Given the description of an element on the screen output the (x, y) to click on. 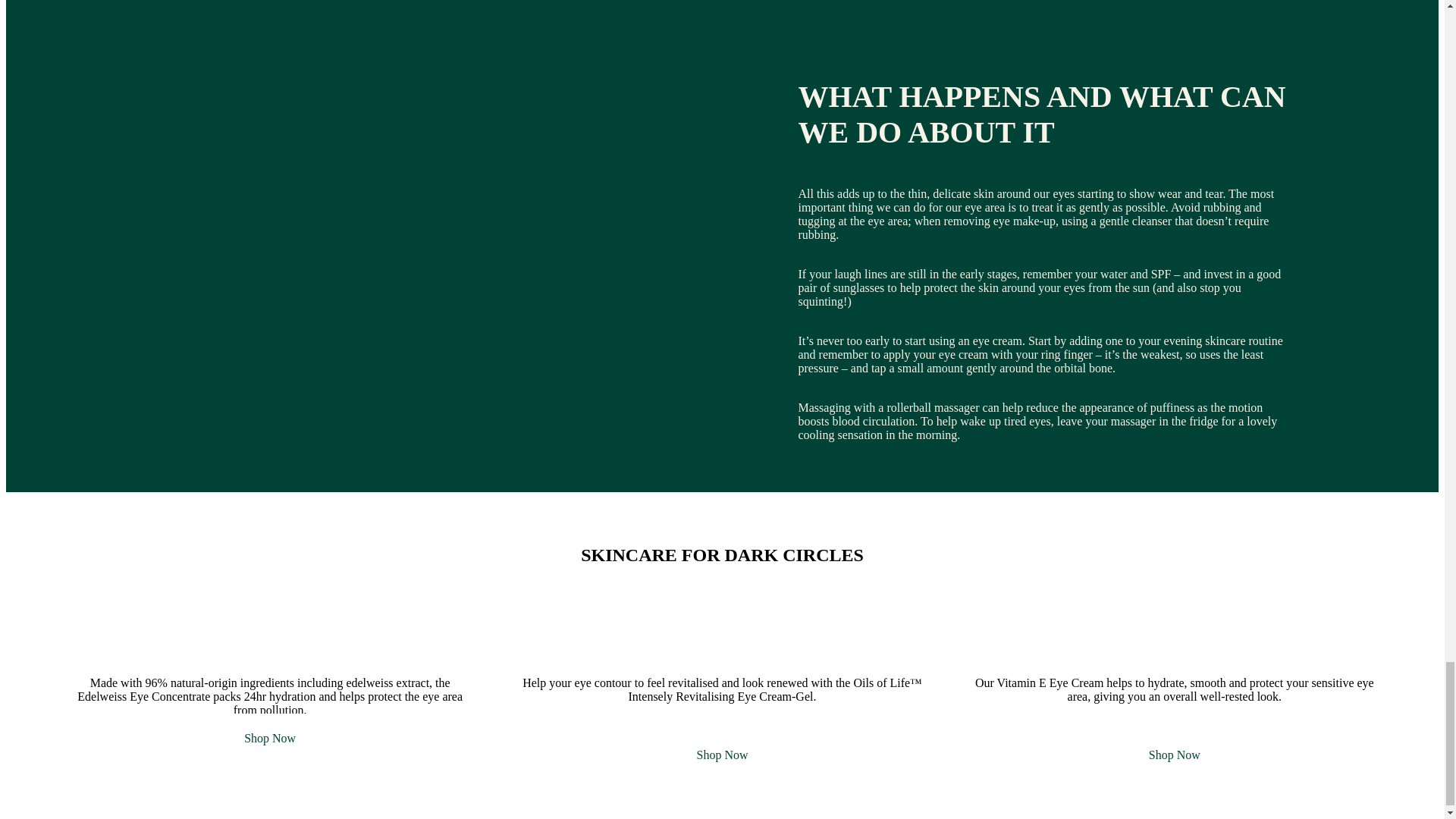
Shop Now (1174, 754)
Shop Now (269, 737)
Shop Now (721, 754)
